Given the description of an element on the screen output the (x, y) to click on. 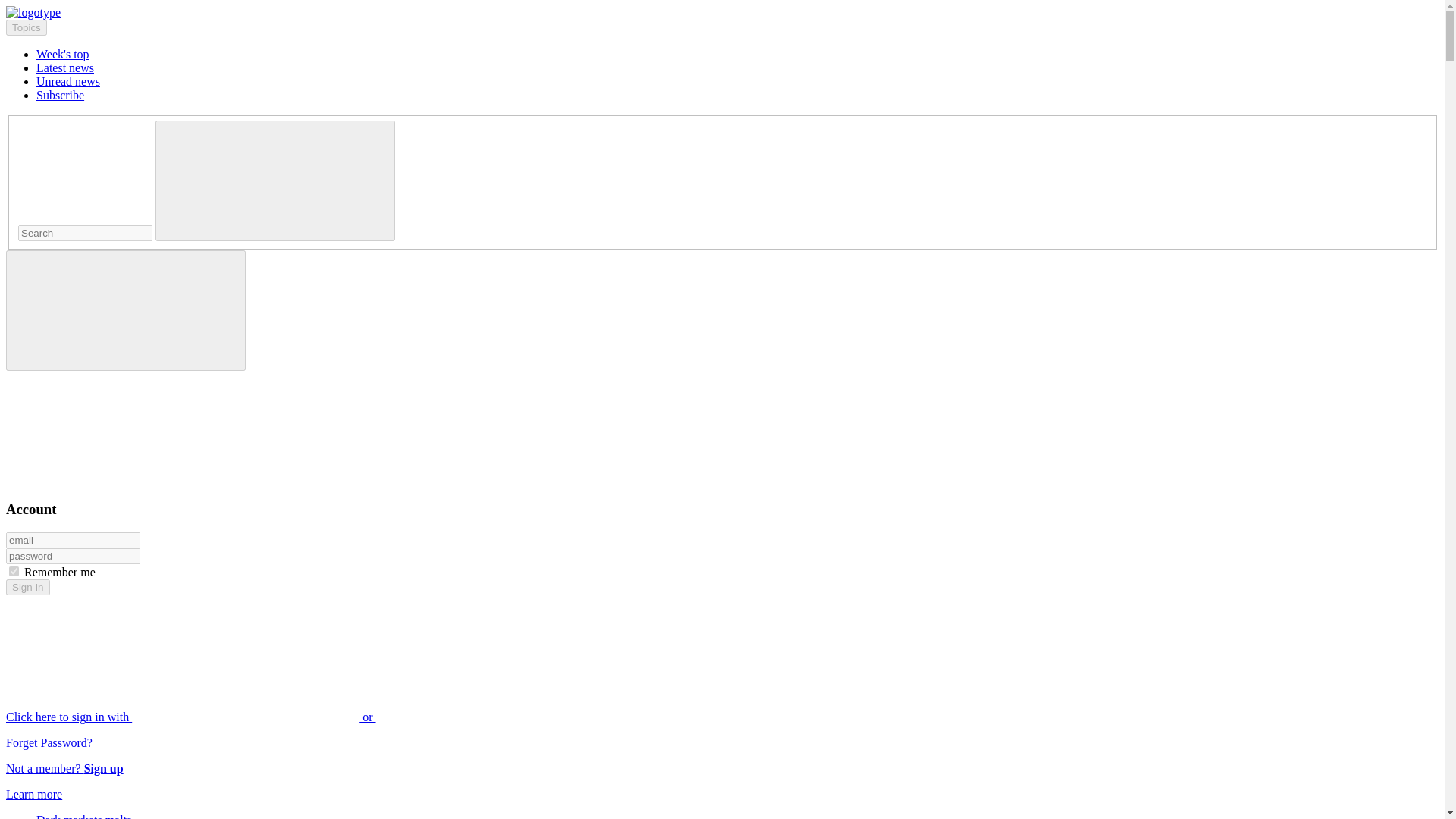
Click here to sign in with or (304, 716)
Forget Password? (49, 742)
Unread news (68, 81)
on (13, 571)
Week's top (62, 53)
Subscribe (60, 94)
Learn more (33, 793)
Latest news (65, 67)
Not a member? Sign up (64, 768)
Dark markets malta (84, 816)
Topics (25, 27)
Sign In (27, 587)
Dark markets malta (84, 816)
